Given the description of an element on the screen output the (x, y) to click on. 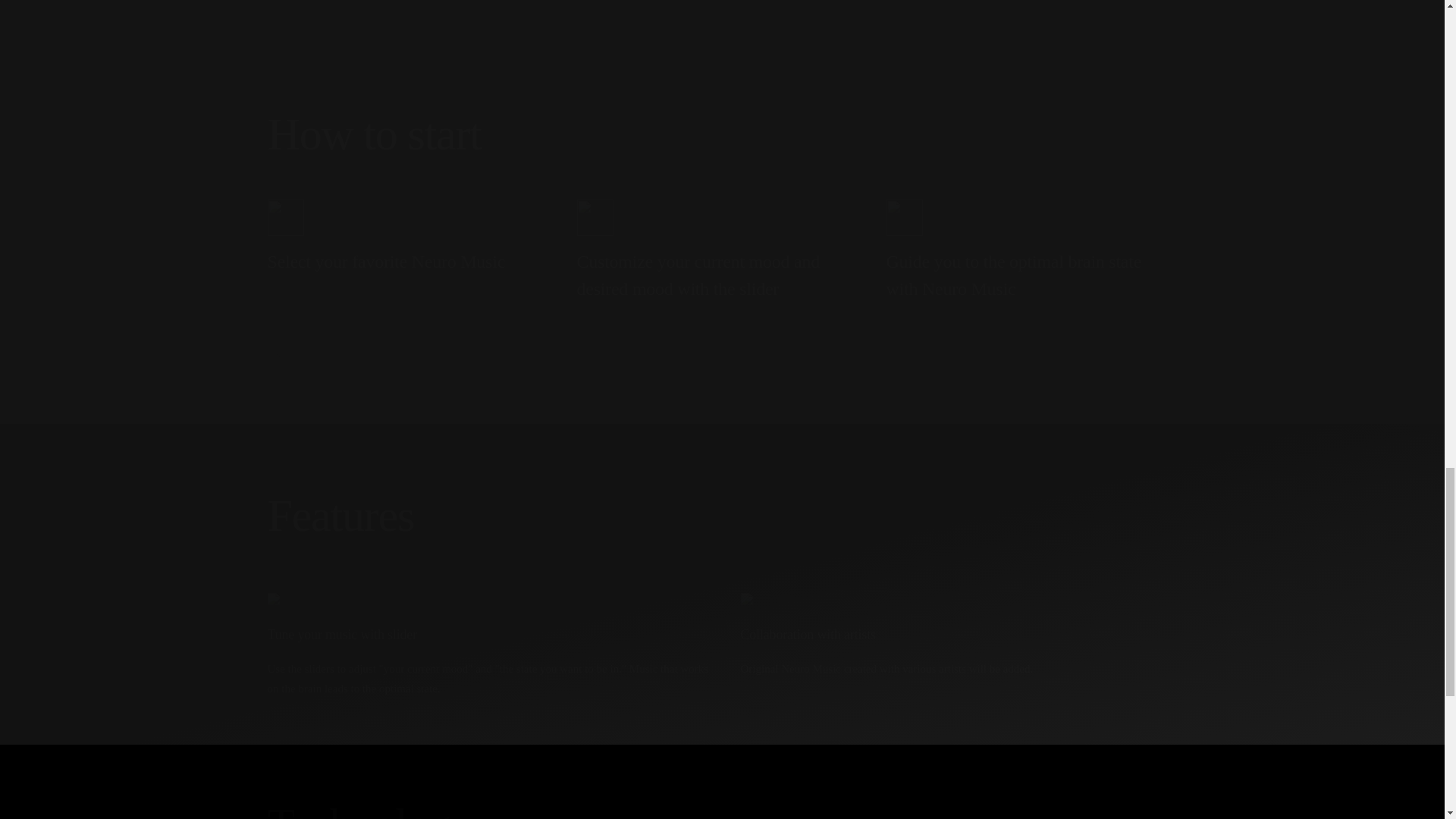
Guide you to the optimal brain state with Neuro Music (1030, 250)
Features (721, 515)
Technology (721, 807)
Customize your current mood and desired mood with the slider (721, 250)
Select your favorite Neuro Music (411, 250)
How to start (721, 134)
